Given the description of an element on the screen output the (x, y) to click on. 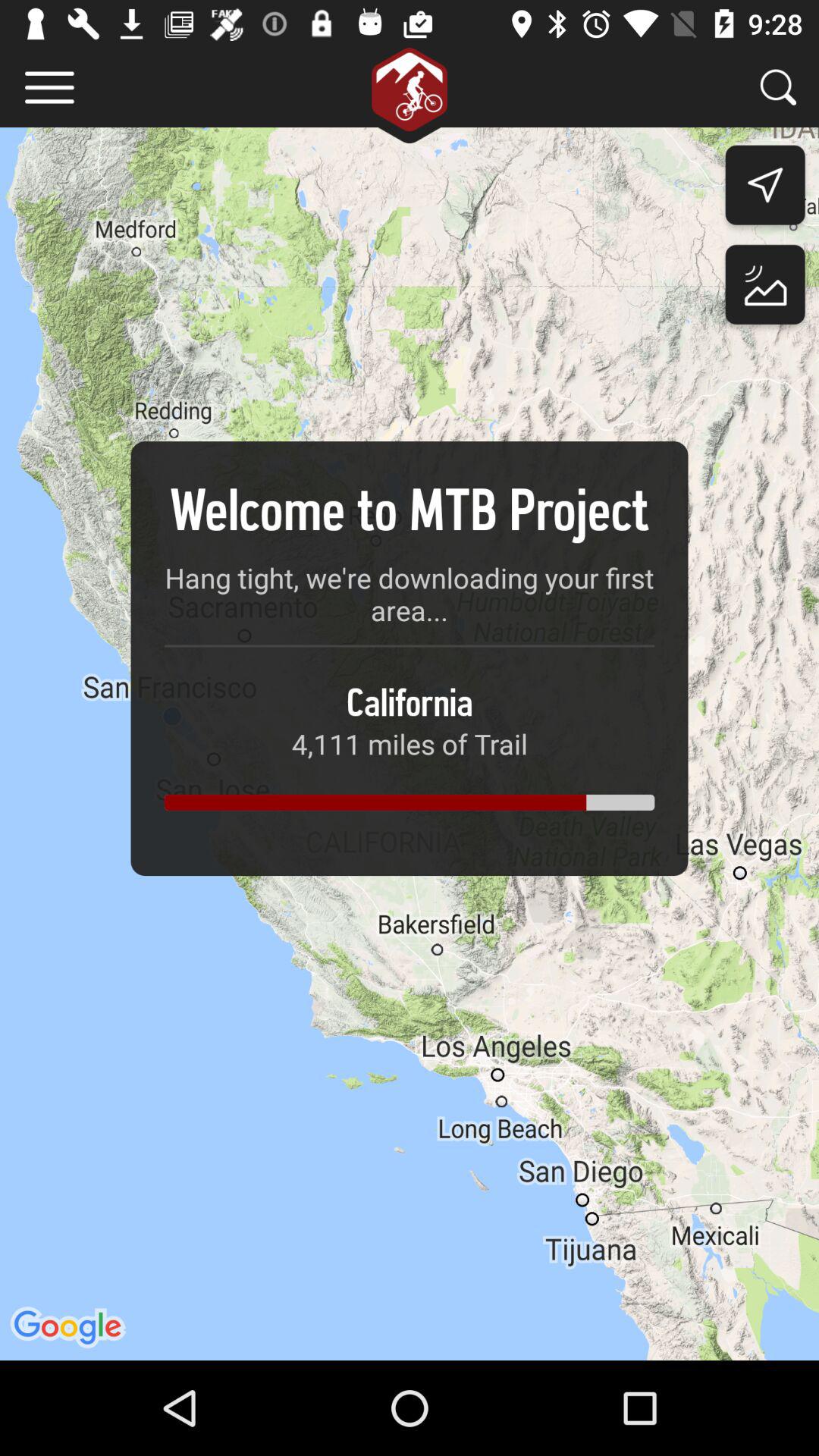
choose options (49, 87)
